Given the description of an element on the screen output the (x, y) to click on. 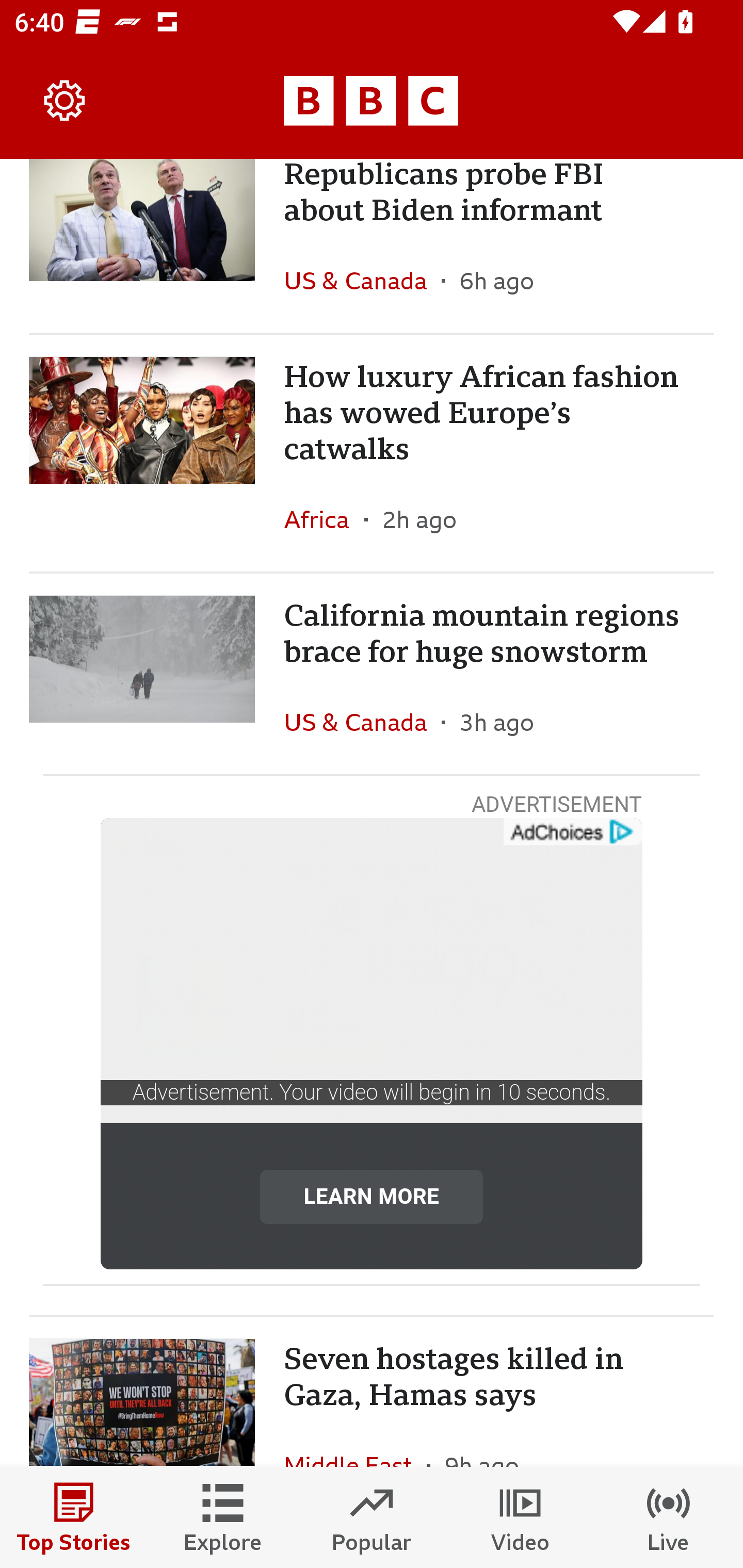
Settings (64, 100)
US & Canada In the section US & Canada (362, 280)
Africa In the section Africa (323, 518)
US & Canada In the section US & Canada (362, 721)
get?name=admarker-full-tl (571, 832)
LEARN MORE (371, 1196)
LEARN MORE (371, 1196)
Explore (222, 1517)
Popular (371, 1517)
Video (519, 1517)
Live (668, 1517)
